Given the description of an element on the screen output the (x, y) to click on. 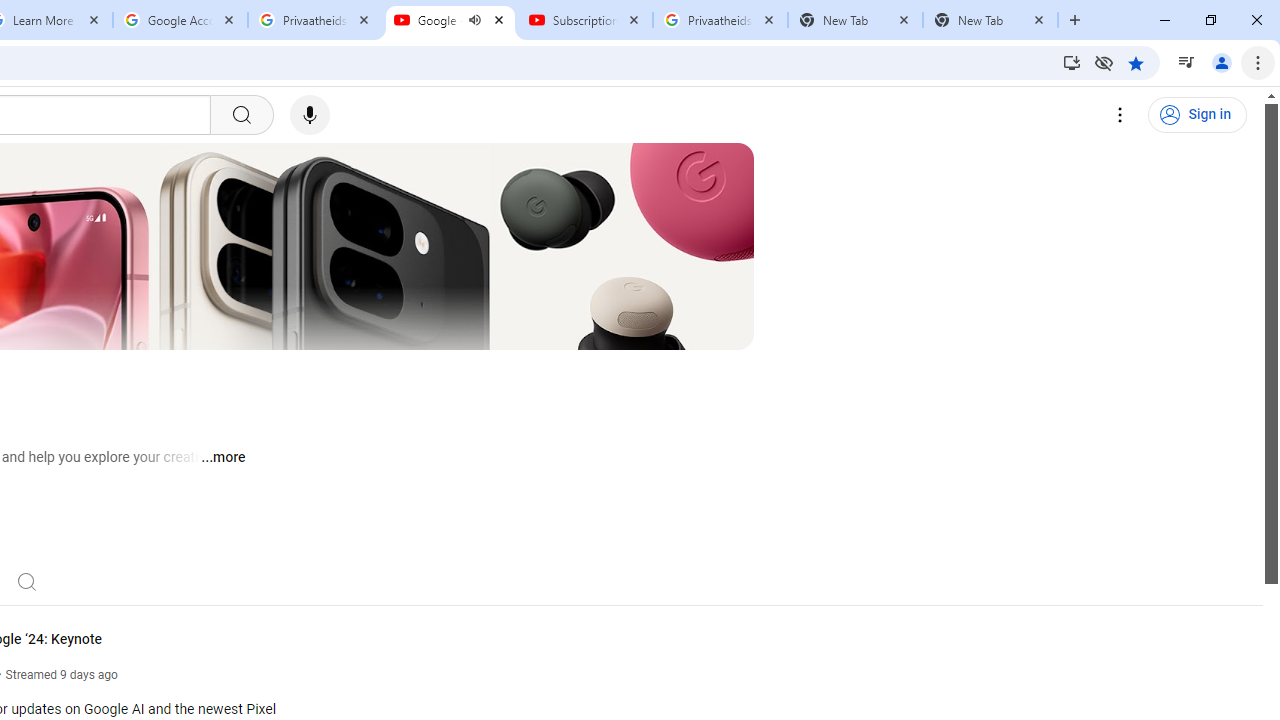
Install YouTube (1071, 62)
Google Account (180, 20)
Subscriptions - YouTube (585, 20)
